Given the description of an element on the screen output the (x, y) to click on. 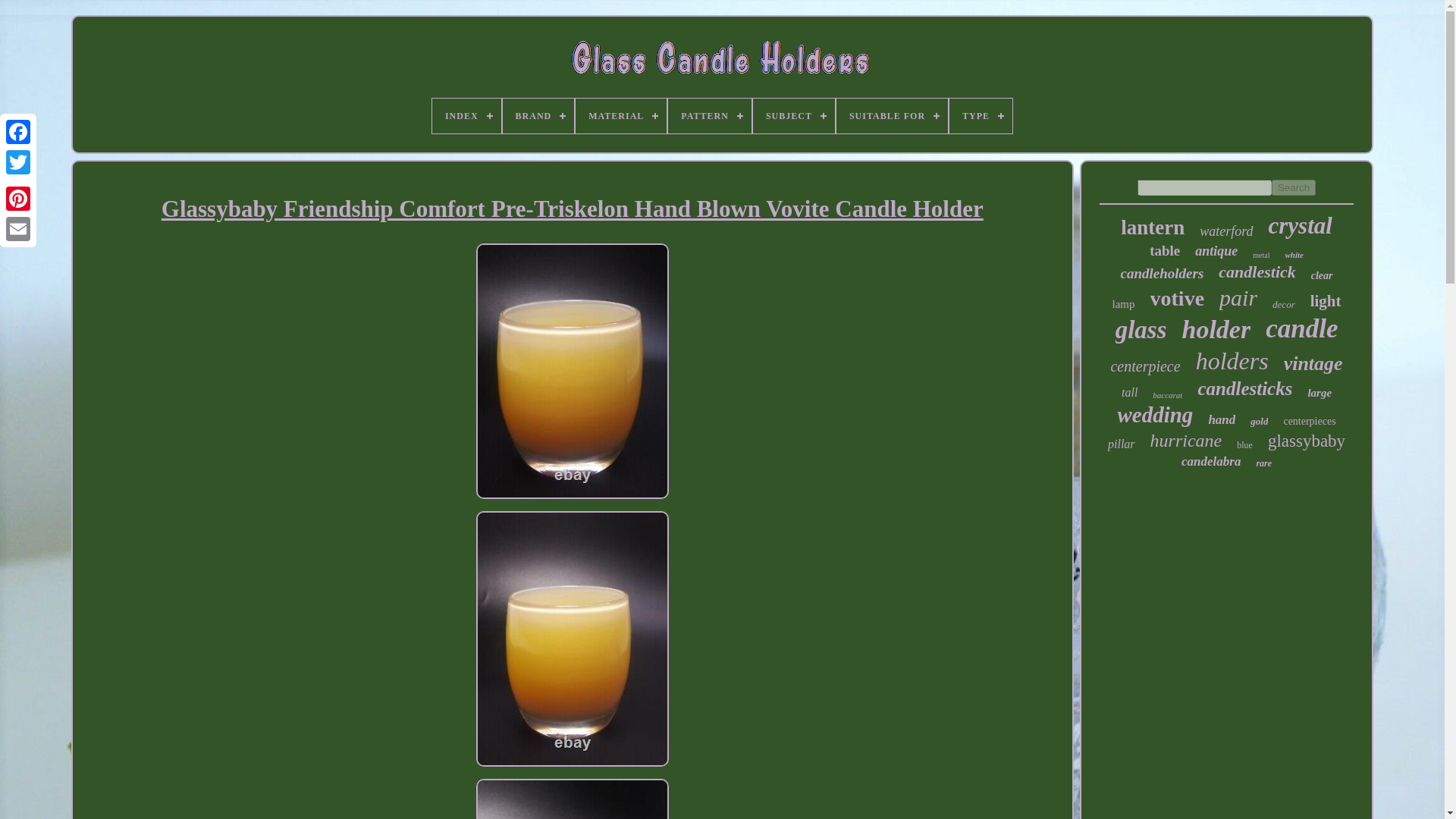
MATERIAL (620, 115)
BRAND (538, 115)
Search (1293, 187)
Facebook (17, 132)
INDEX (466, 115)
